Given the description of an element on the screen output the (x, y) to click on. 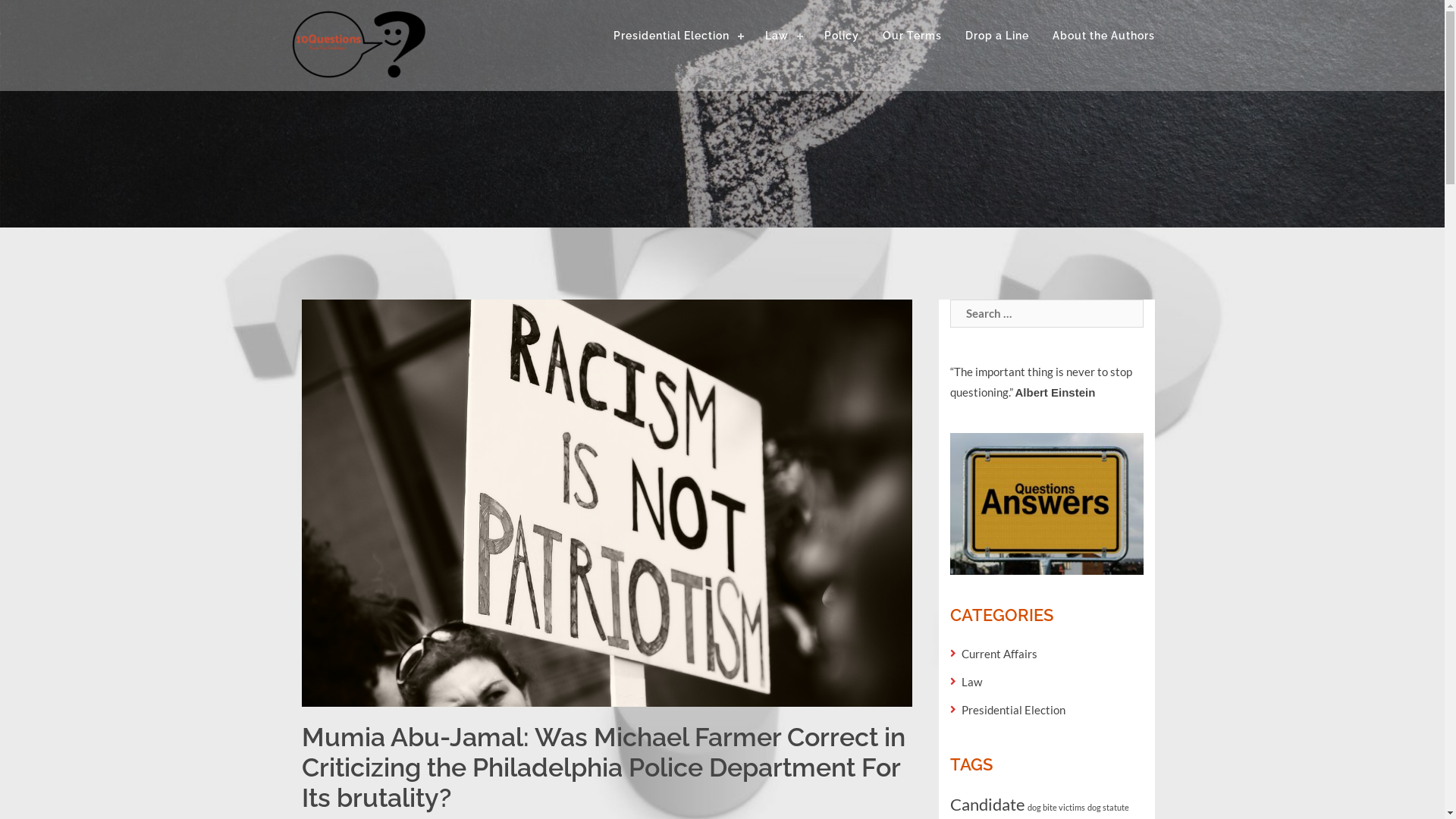
Our Terms Element type: text (912, 35)
Drop a Line Element type: text (995, 35)
Law Element type: text (781, 35)
Presidential Election Element type: text (676, 35)
Law Element type: text (971, 681)
dog bite victims Element type: text (1055, 807)
Search Element type: text (33, 17)
About the Authors Element type: text (1097, 35)
10Questions Element type: hover (722, 113)
dog statute Element type: text (1108, 807)
Current Affairs Element type: text (999, 653)
Candidate Element type: text (986, 803)
Policy Element type: text (840, 35)
Presidential Election Element type: text (1013, 709)
